Given the description of an element on the screen output the (x, y) to click on. 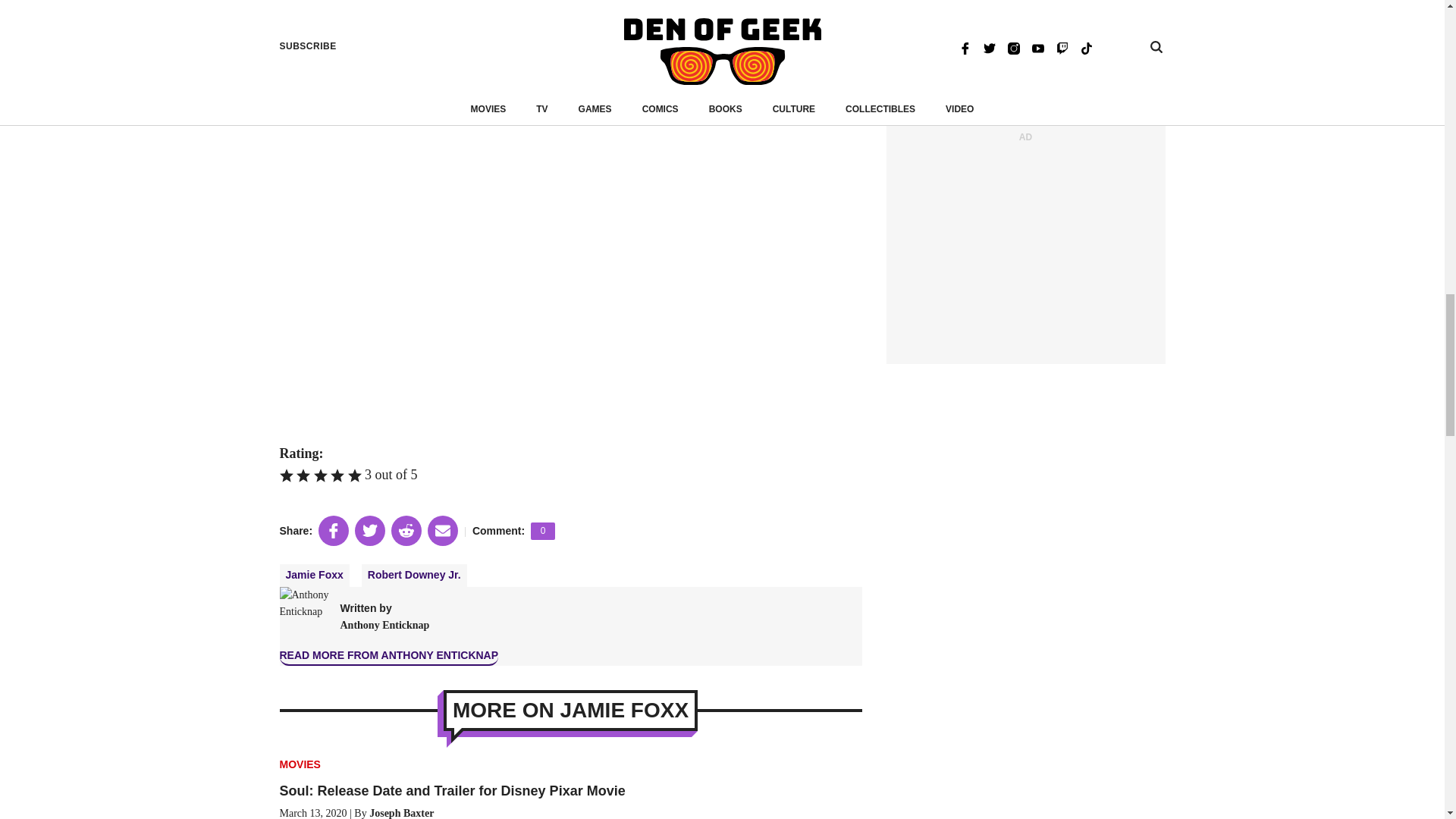
Jamie Foxx (314, 575)
Robert Downey Jr. (414, 575)
